Given the description of an element on the screen output the (x, y) to click on. 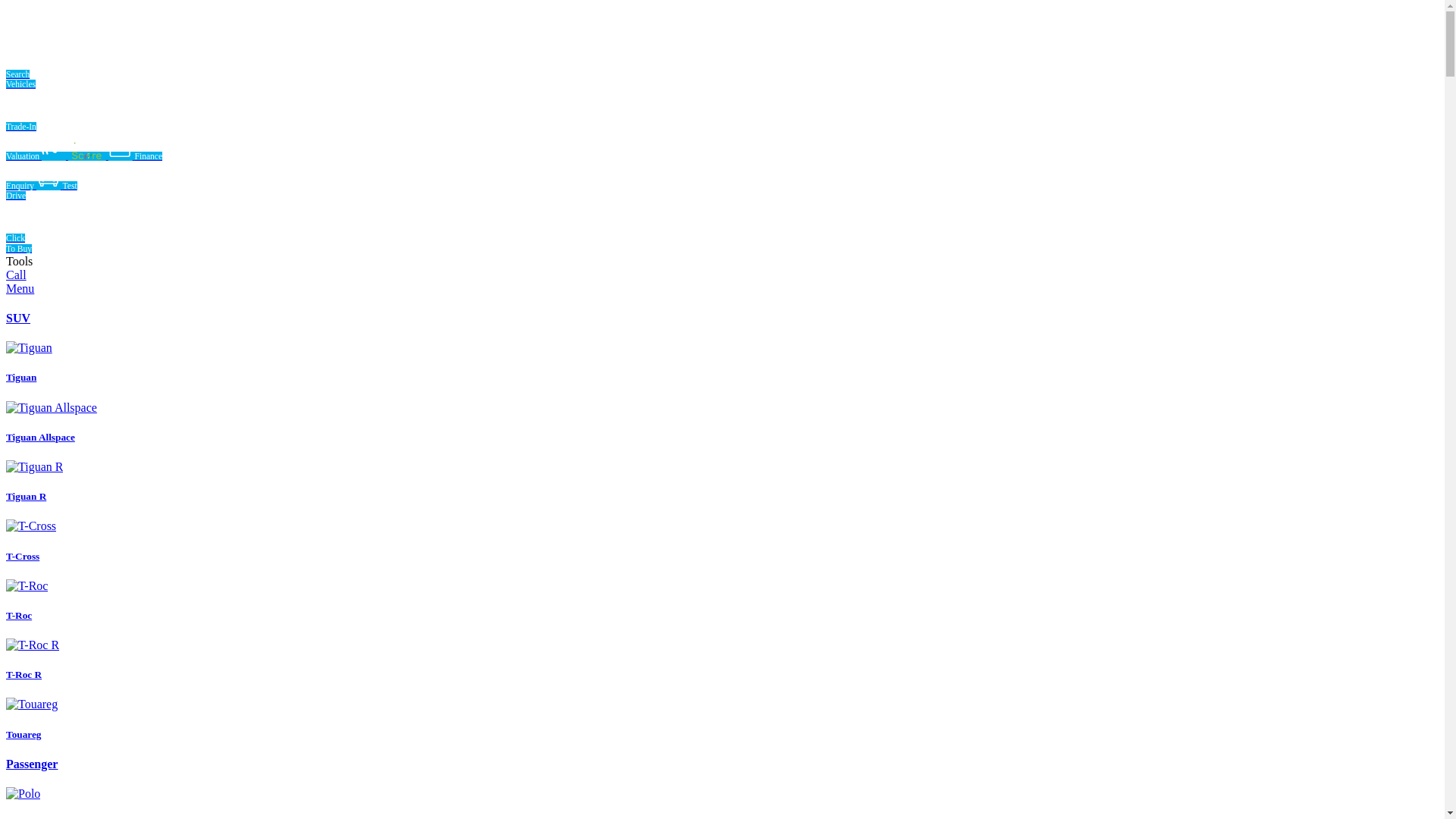
Trade-In
Valuation Element type: text (84, 130)
Call Element type: text (16, 274)
Finance
Enquiry Element type: text (84, 170)
Test
Drive Element type: text (41, 190)
T-Roc Element type: text (722, 600)
Touareg Element type: text (722, 718)
Tiguan Element type: text (722, 362)
Search
Vehicles Element type: text (84, 63)
SUV Element type: text (18, 317)
Tiguan Allspace Element type: text (722, 422)
Click
To Buy Element type: text (84, 232)
Menu Element type: text (20, 288)
Tools Element type: text (19, 260)
Passenger Element type: text (31, 763)
T-Cross Element type: text (722, 540)
T-Roc R Element type: text (722, 659)
Tiguan R Element type: text (722, 481)
